Given the description of an element on the screen output the (x, y) to click on. 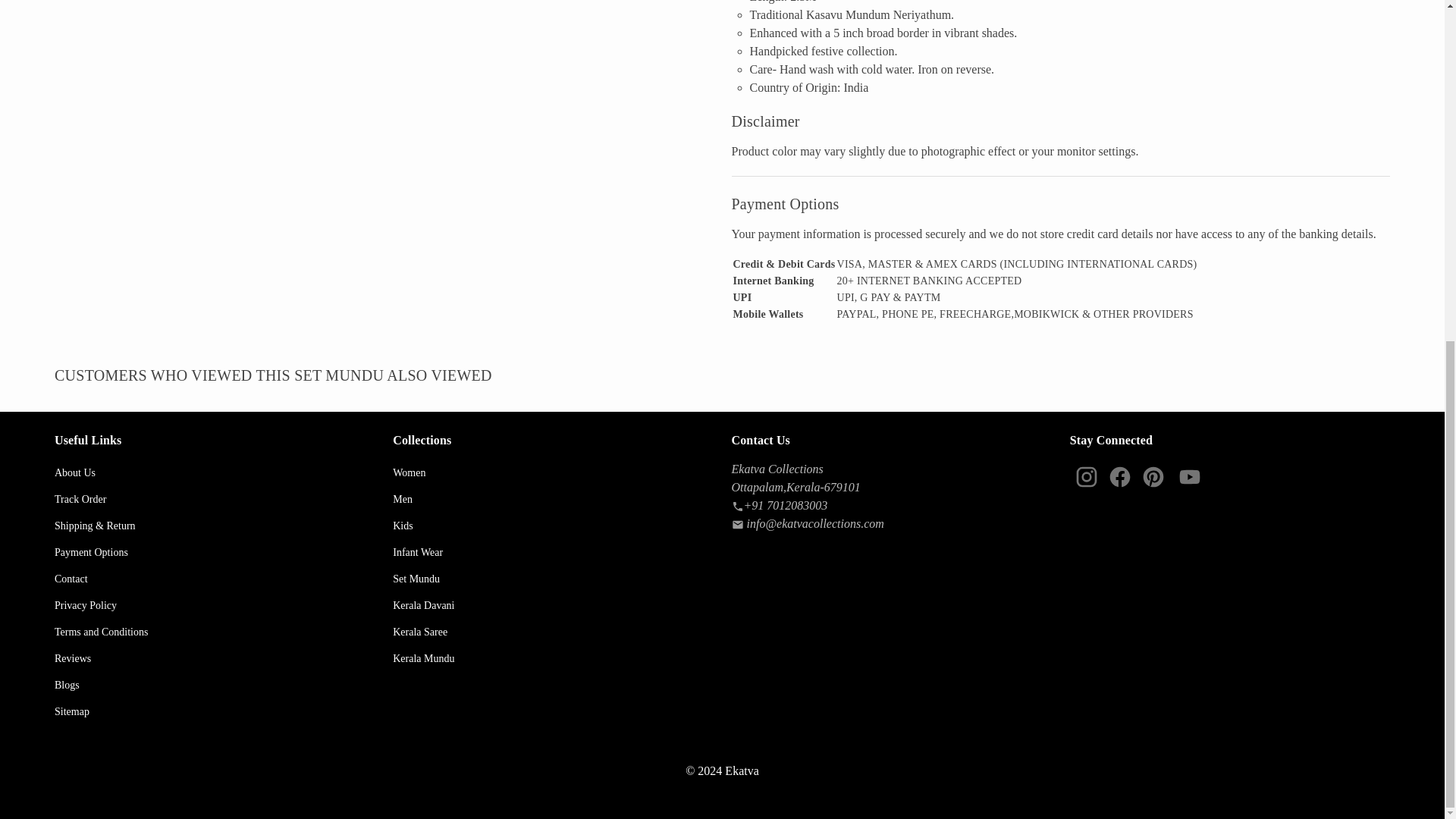
Track Order (214, 499)
Terms and Conditions (214, 632)
Women (553, 473)
Blogs (214, 685)
Payment Options (214, 552)
About Us (214, 473)
Contact (214, 579)
Privacy Policy (214, 605)
Reviews (214, 659)
Sitemap (214, 712)
